Given the description of an element on the screen output the (x, y) to click on. 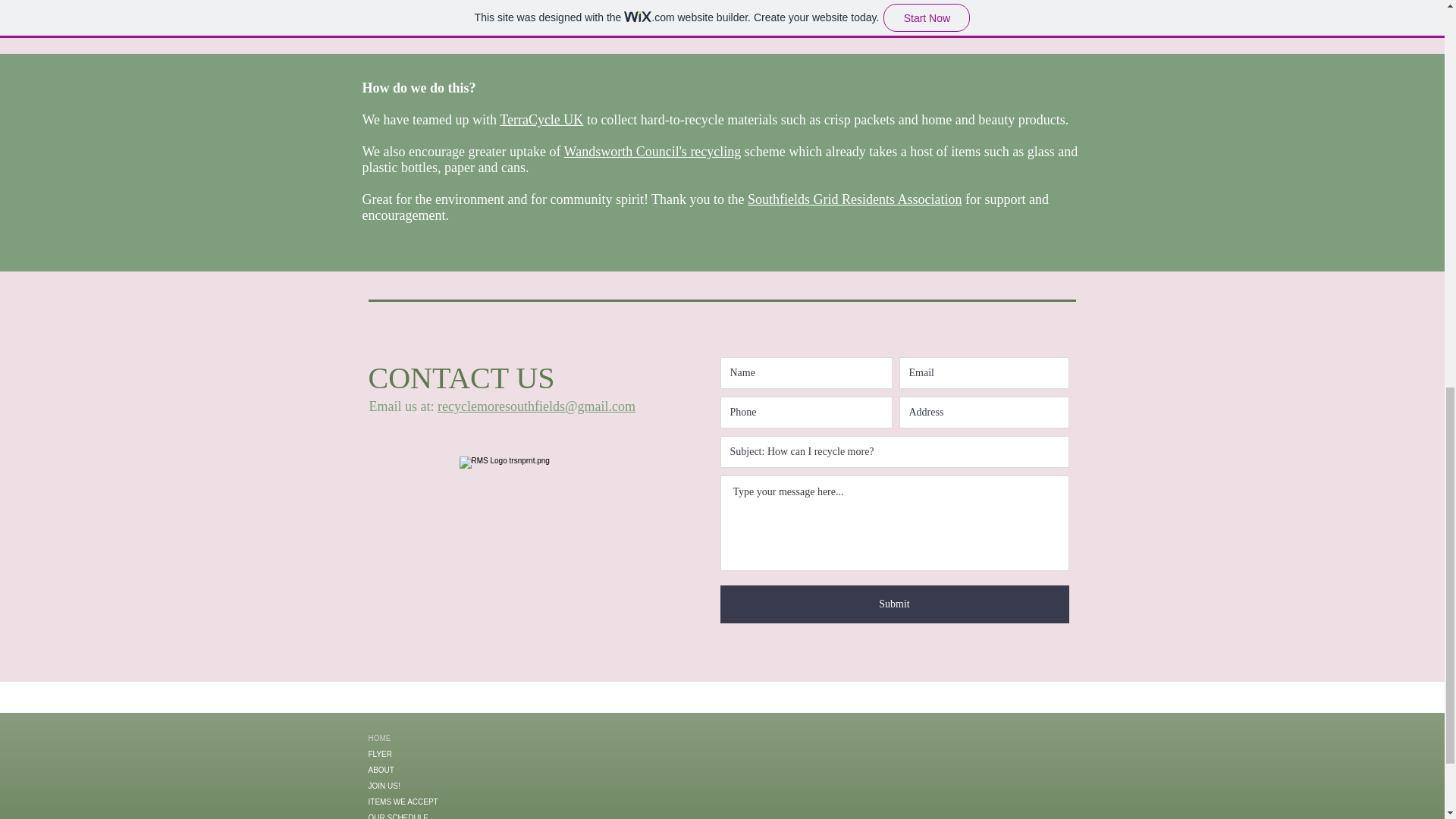
FLYER (427, 754)
OUR SCHEDULE (427, 814)
ABOUT (427, 770)
ITEMS WE ACCEPT (427, 801)
JOIN US! (427, 785)
Wandsworth Council's recycling (652, 151)
Submit (894, 604)
Southfields Grid Residents Association (855, 199)
HOME (427, 738)
TerraCycle UK (541, 119)
